Given the description of an element on the screen output the (x, y) to click on. 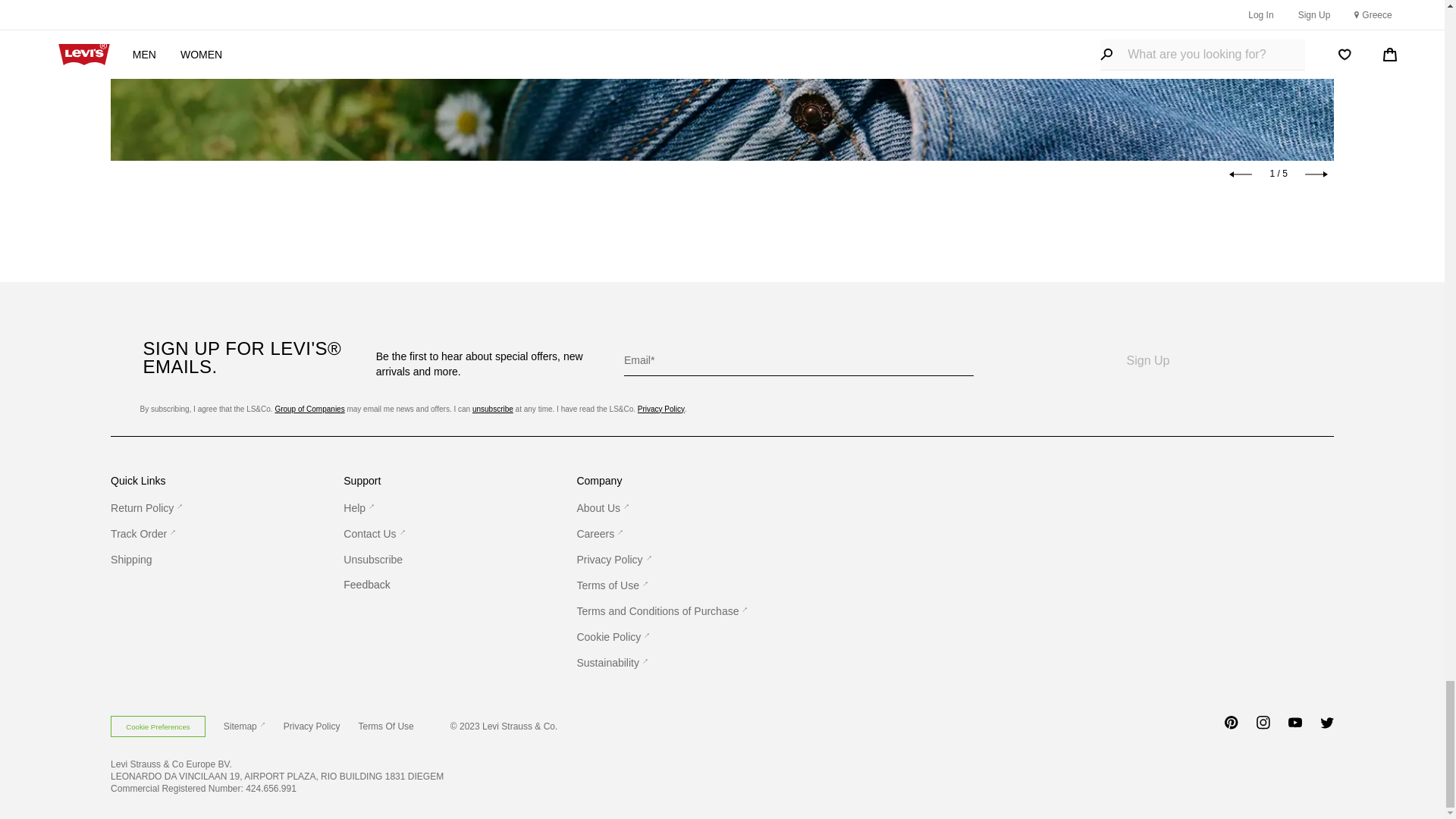
Instagram (1262, 728)
YouTube (1294, 728)
TikTok (1199, 728)
Pinterest (1231, 728)
Twitter (1326, 728)
